Given the description of an element on the screen output the (x, y) to click on. 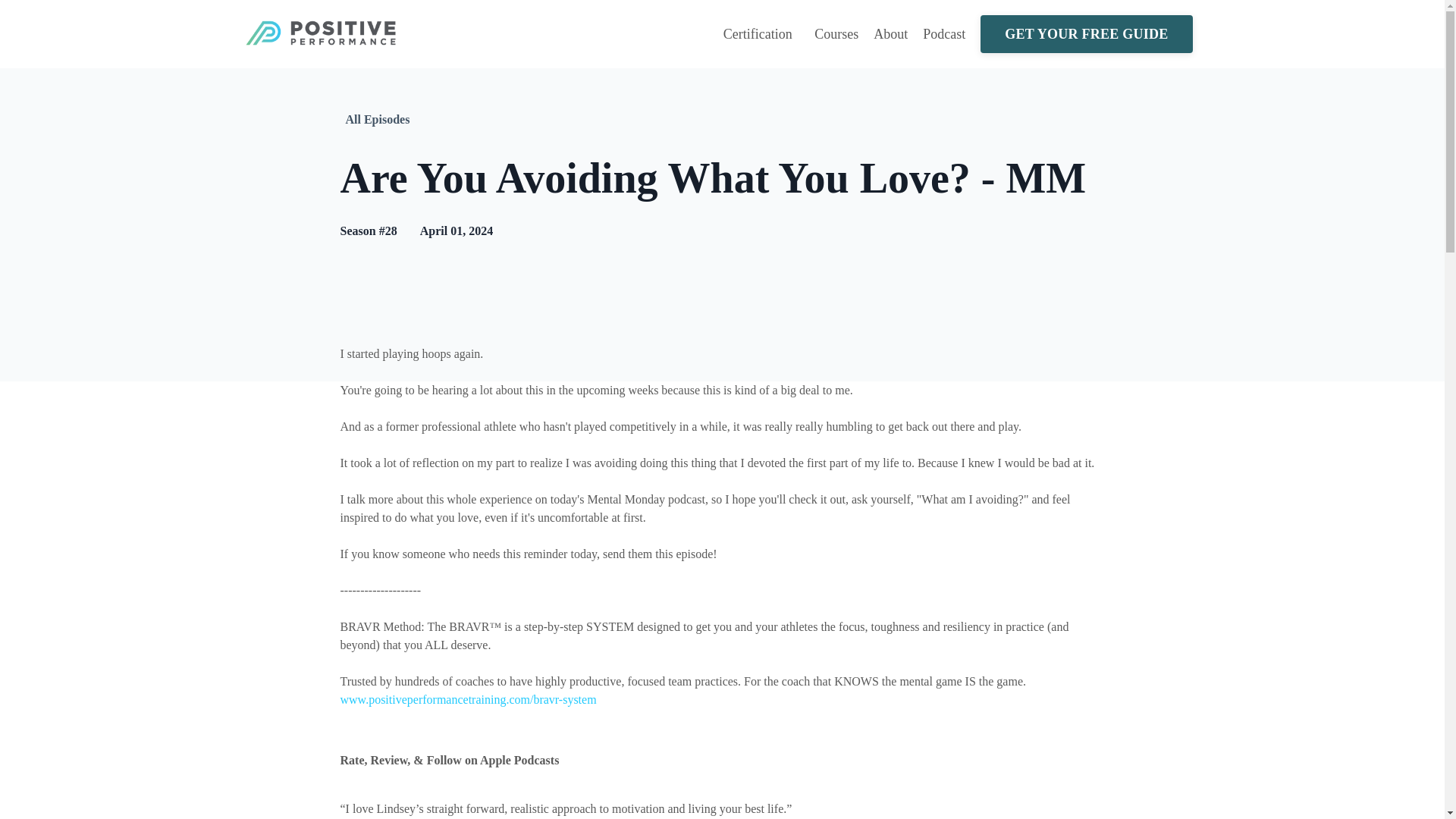
Courses (836, 34)
Certification (761, 34)
All Episodes (378, 119)
About (890, 34)
GET YOUR FREE GUIDE (1085, 34)
Podcast (944, 34)
